Given the description of an element on the screen output the (x, y) to click on. 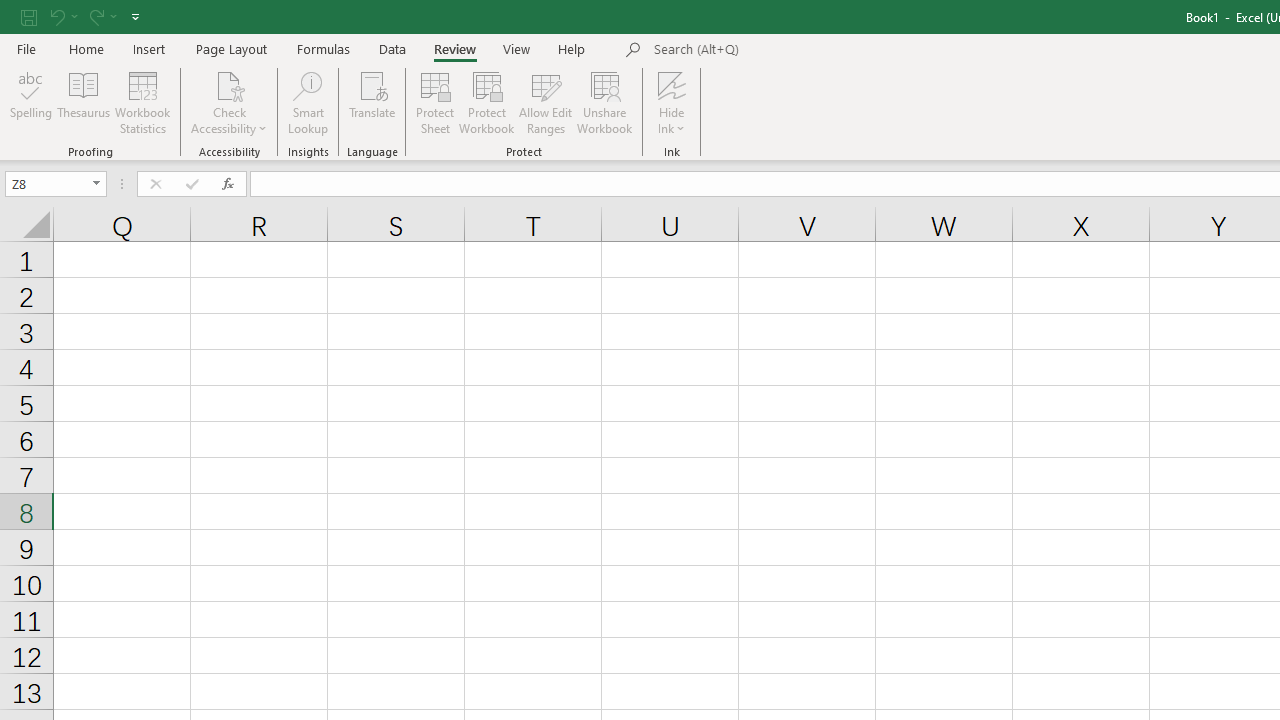
Check Accessibility (229, 102)
Protect Workbook... (486, 102)
Translate (372, 102)
Smart Lookup (308, 102)
Unshare Workbook (604, 102)
